Given the description of an element on the screen output the (x, y) to click on. 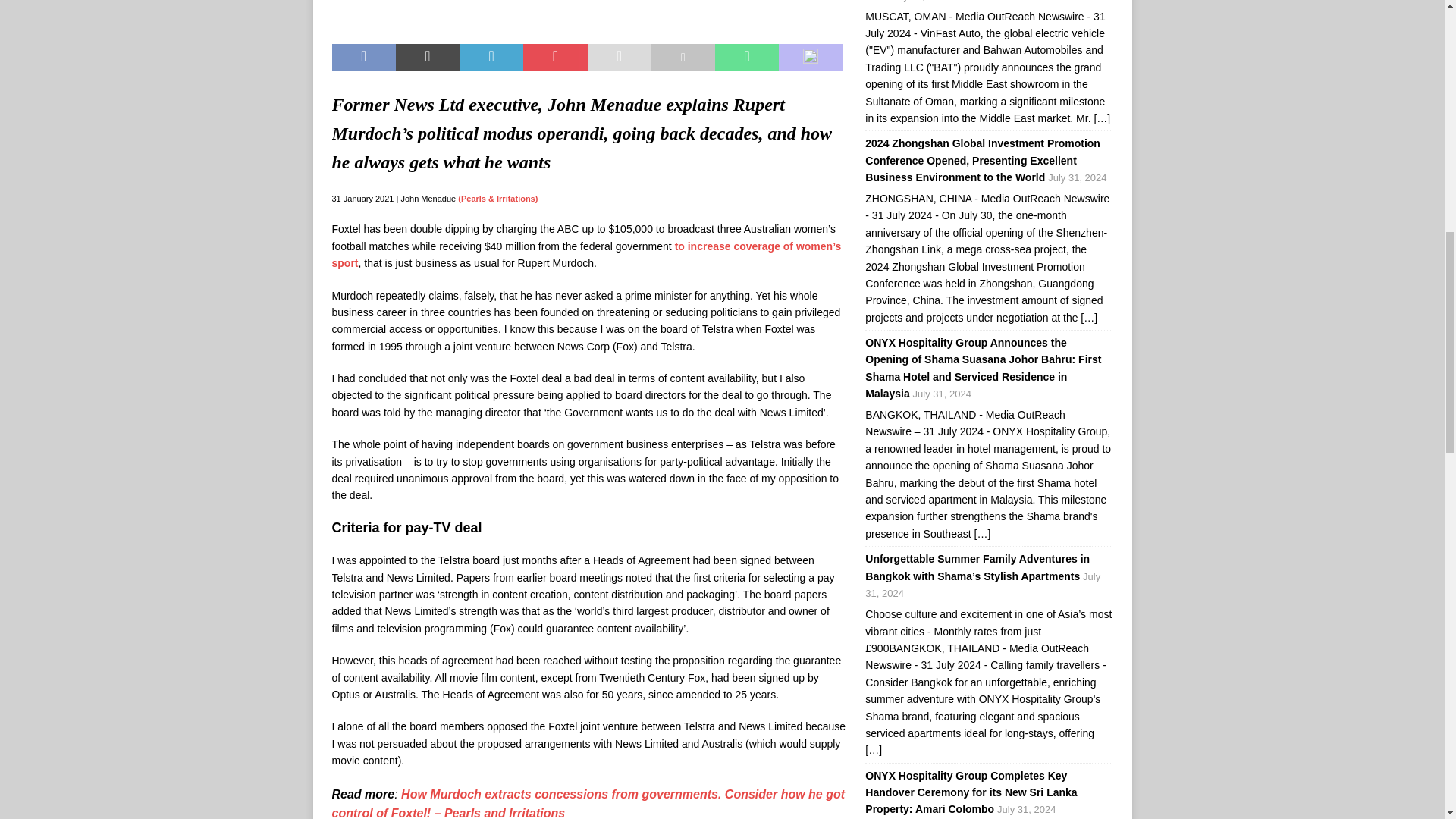
Share on LinkedIn (491, 57)
APAC-News-Rupert-Murdoch-Blair-Morrison-Trump (588, 14)
Pin This Post (554, 57)
Tweet This Post (428, 57)
Share on Facebook (363, 57)
